Given the description of an element on the screen output the (x, y) to click on. 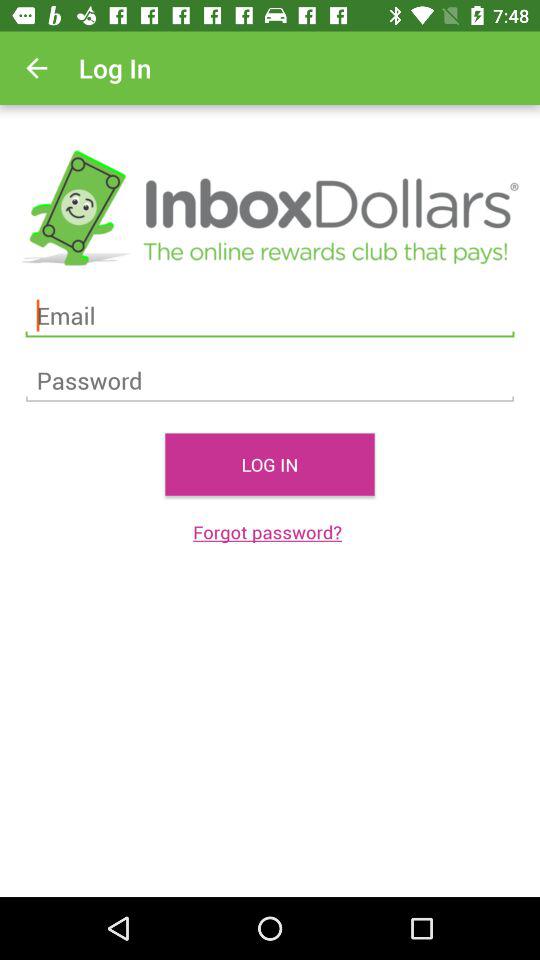
open the app next to the log in item (36, 68)
